Given the description of an element on the screen output the (x, y) to click on. 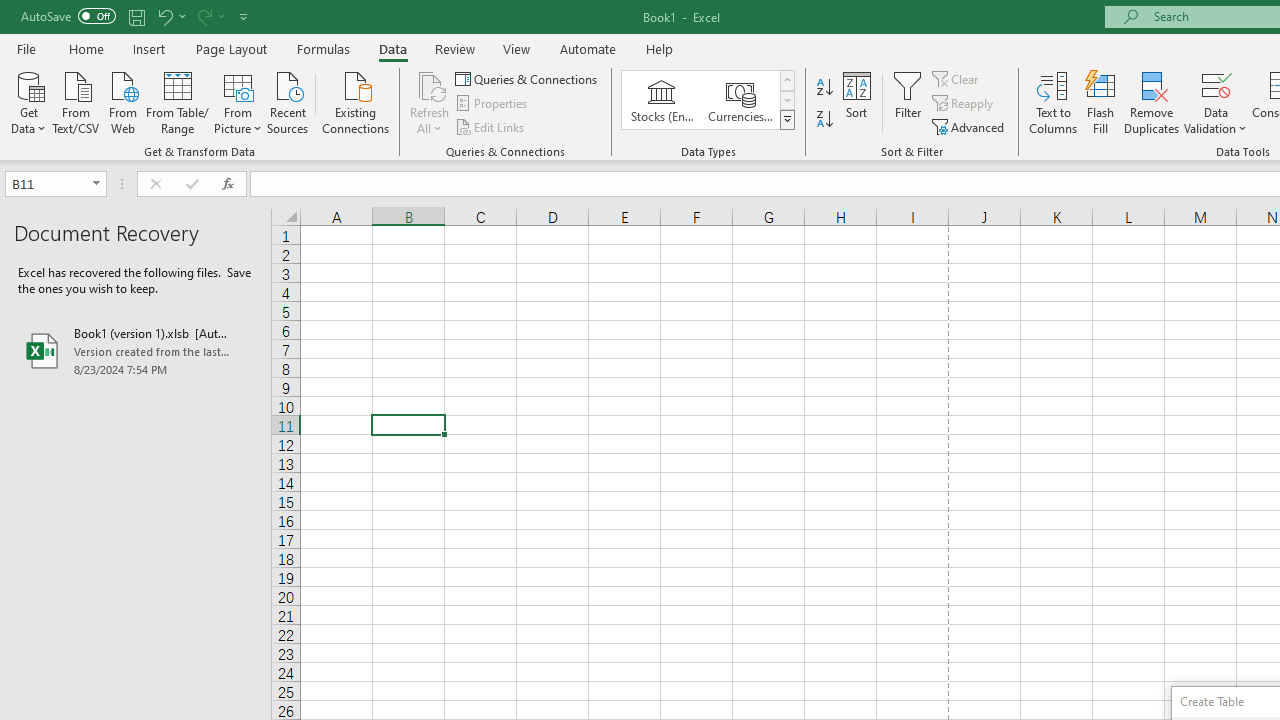
Undo (170, 15)
Edit Links (491, 126)
Refresh All (429, 102)
Undo (164, 15)
From Web (122, 101)
Refresh All (429, 84)
Page Layout (230, 48)
File Tab (26, 48)
Home (86, 48)
Advanced... (970, 126)
Quick Access Toolbar (136, 16)
Sort A to Z (824, 87)
Class: NetUIImage (787, 119)
From Text/CSV (75, 101)
System (10, 11)
